Given the description of an element on the screen output the (x, y) to click on. 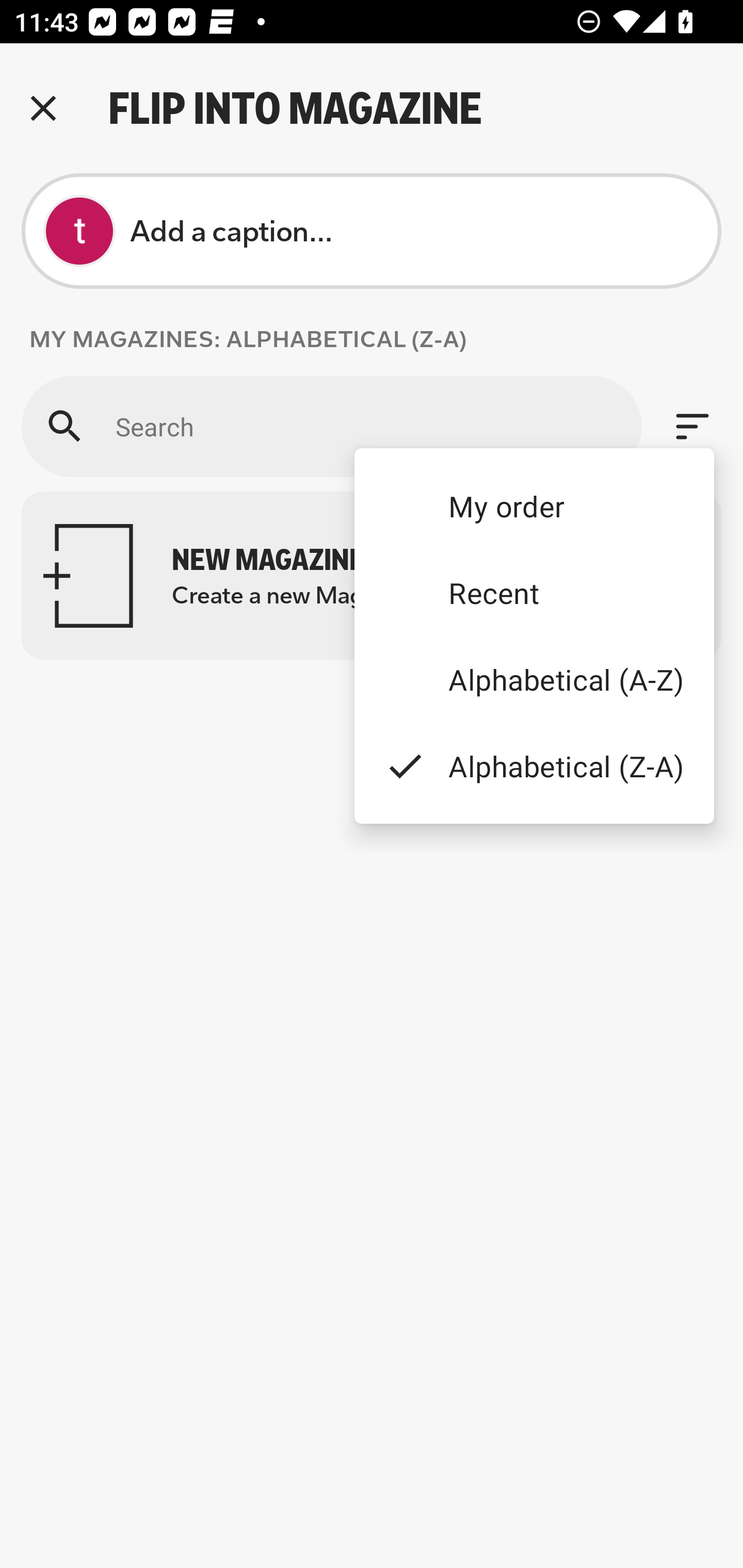
My order (534, 505)
Recent (534, 592)
Alphabetical (A-Z) (534, 679)
Alphabetical (Z-A) (534, 765)
